Given the description of an element on the screen output the (x, y) to click on. 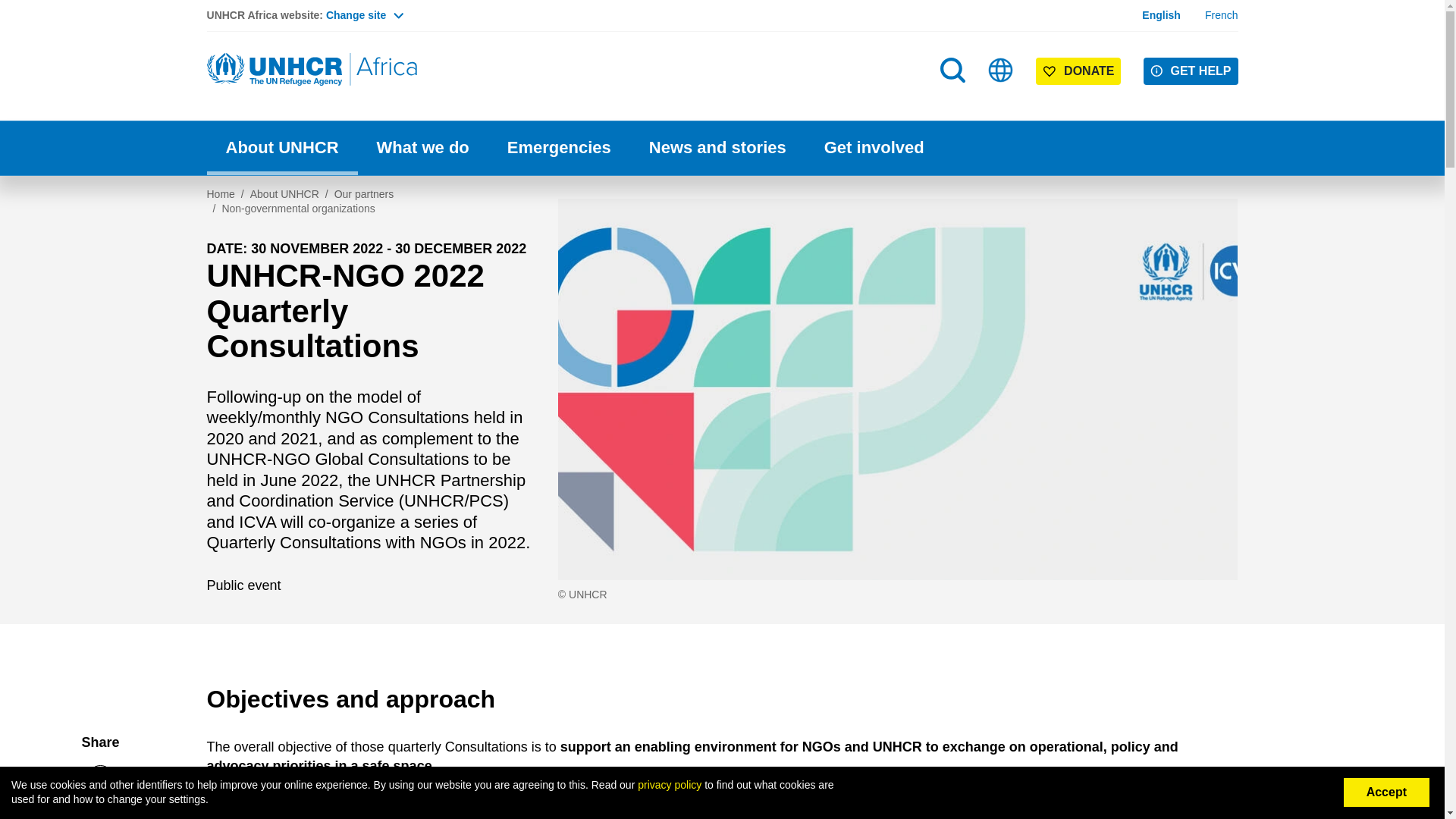
Sites (1000, 69)
About UNHCR (281, 148)
Search (952, 69)
GET HELP (1189, 71)
Skip to main content (721, 1)
French (1078, 71)
English (1222, 15)
Home (1160, 15)
Search (312, 69)
Change site (954, 99)
